Given the description of an element on the screen output the (x, y) to click on. 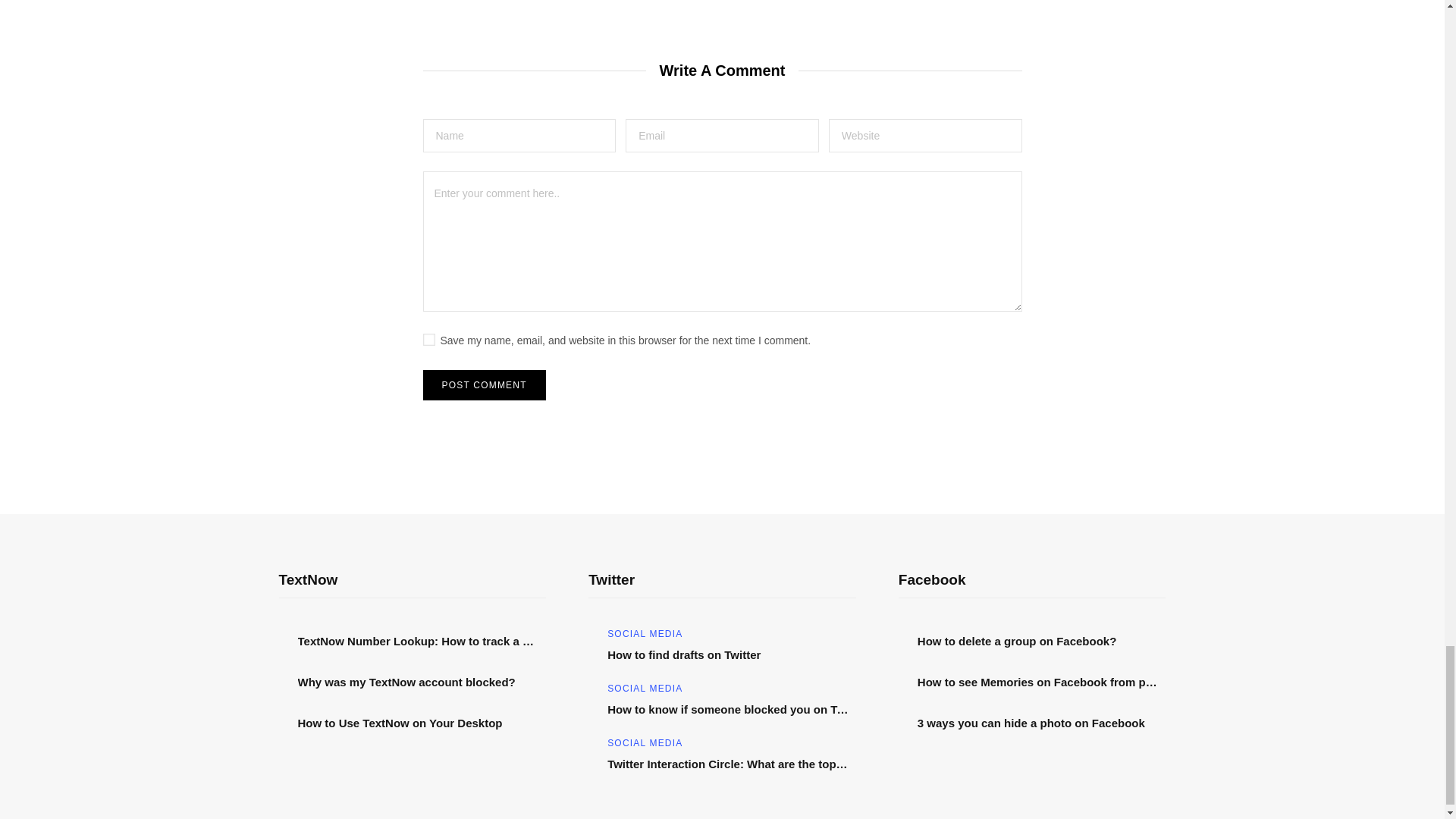
SOCIAL MEDIA (644, 633)
SOCIAL MEDIA (644, 688)
Why was my TextNow account blocked? (421, 682)
How to find drafts on Twitter (731, 655)
TextNow Number Lookup: How to track a TextNow number? (421, 641)
yes (429, 339)
How to Use TextNow on Your Desktop (421, 723)
Post Comment (484, 385)
Post Comment (484, 385)
SOCIAL MEDIA (644, 742)
